Given the description of an element on the screen output the (x, y) to click on. 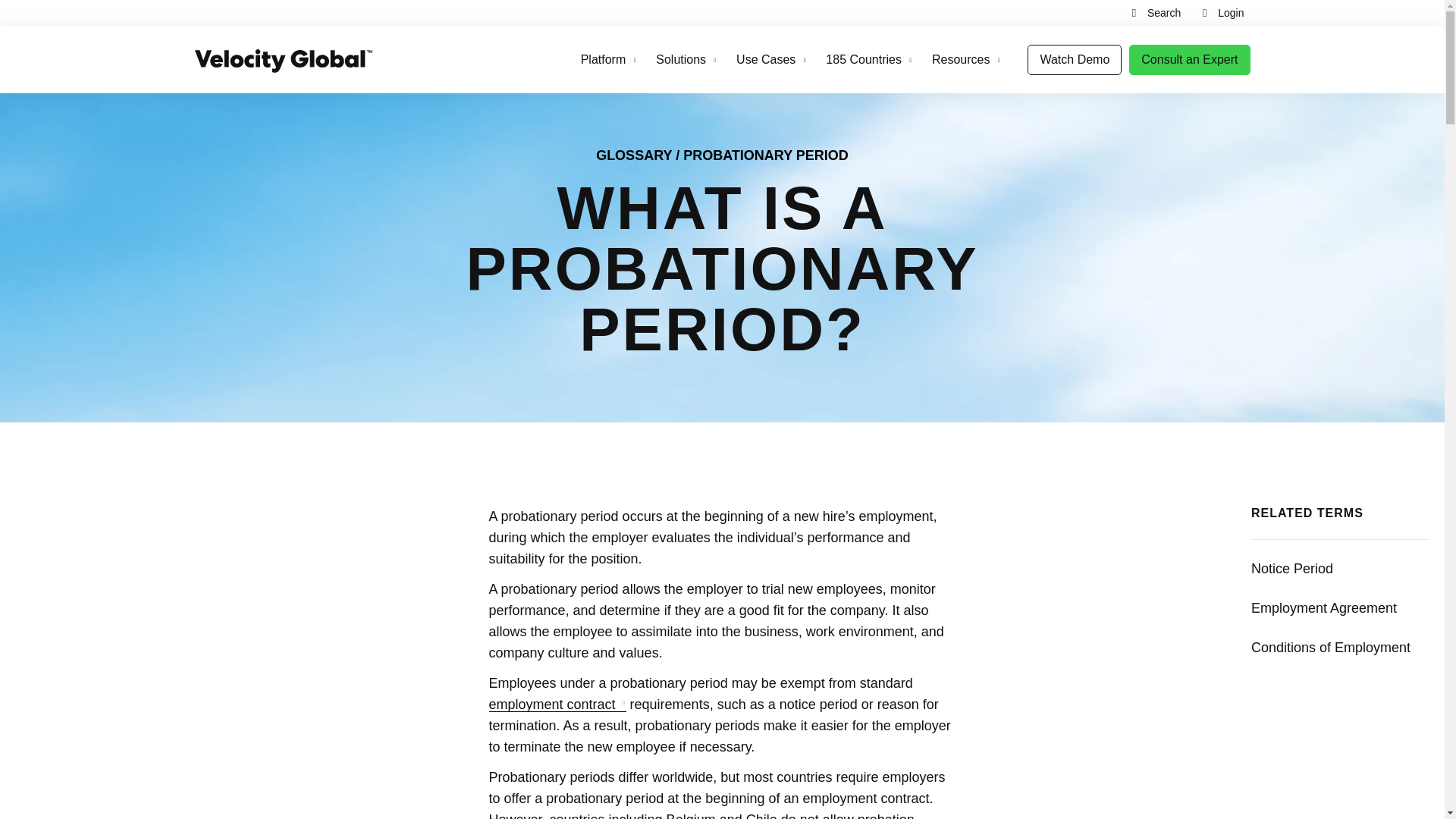
Solutions (686, 59)
Login (1220, 13)
Use Cases (772, 59)
Search (1154, 13)
Platform (609, 59)
